Given the description of an element on the screen output the (x, y) to click on. 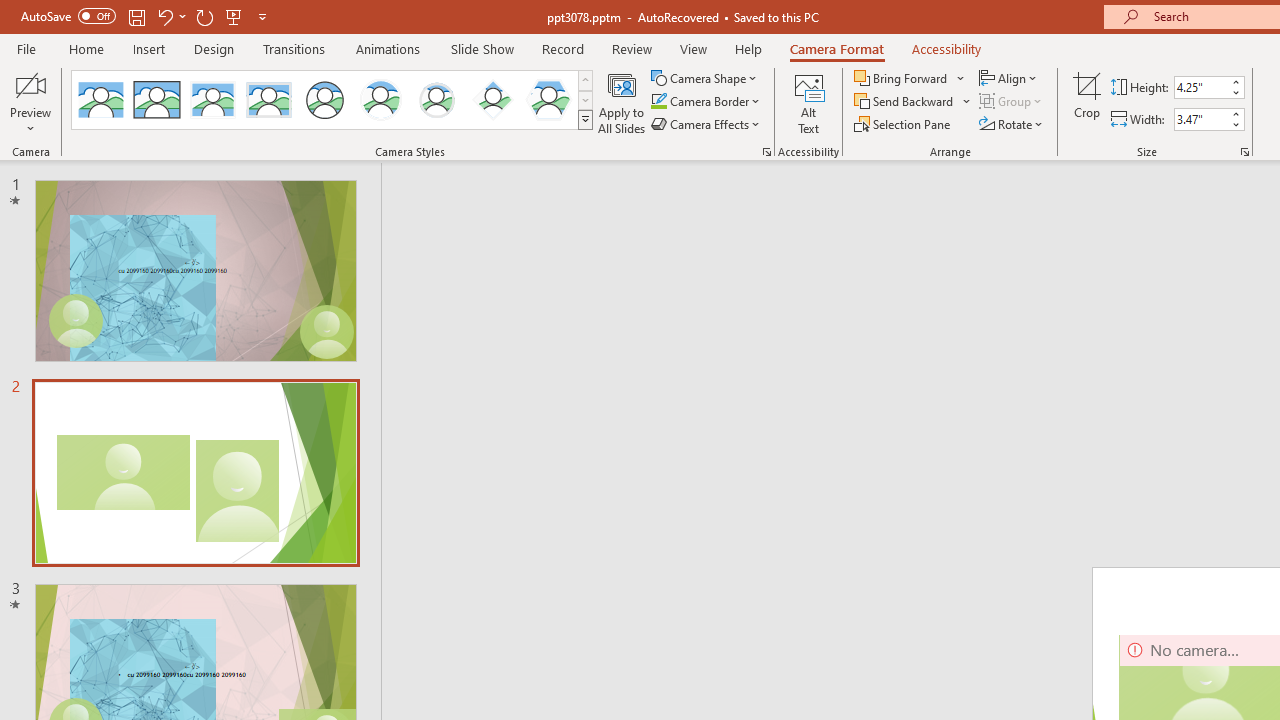
Rotate (1012, 124)
Center Shadow Diamond (492, 100)
Enable Camera Preview (30, 84)
Group (1012, 101)
Cameo Width (1201, 119)
Size and Position... (1244, 151)
Camera Shape (705, 78)
